Given the description of an element on the screen output the (x, y) to click on. 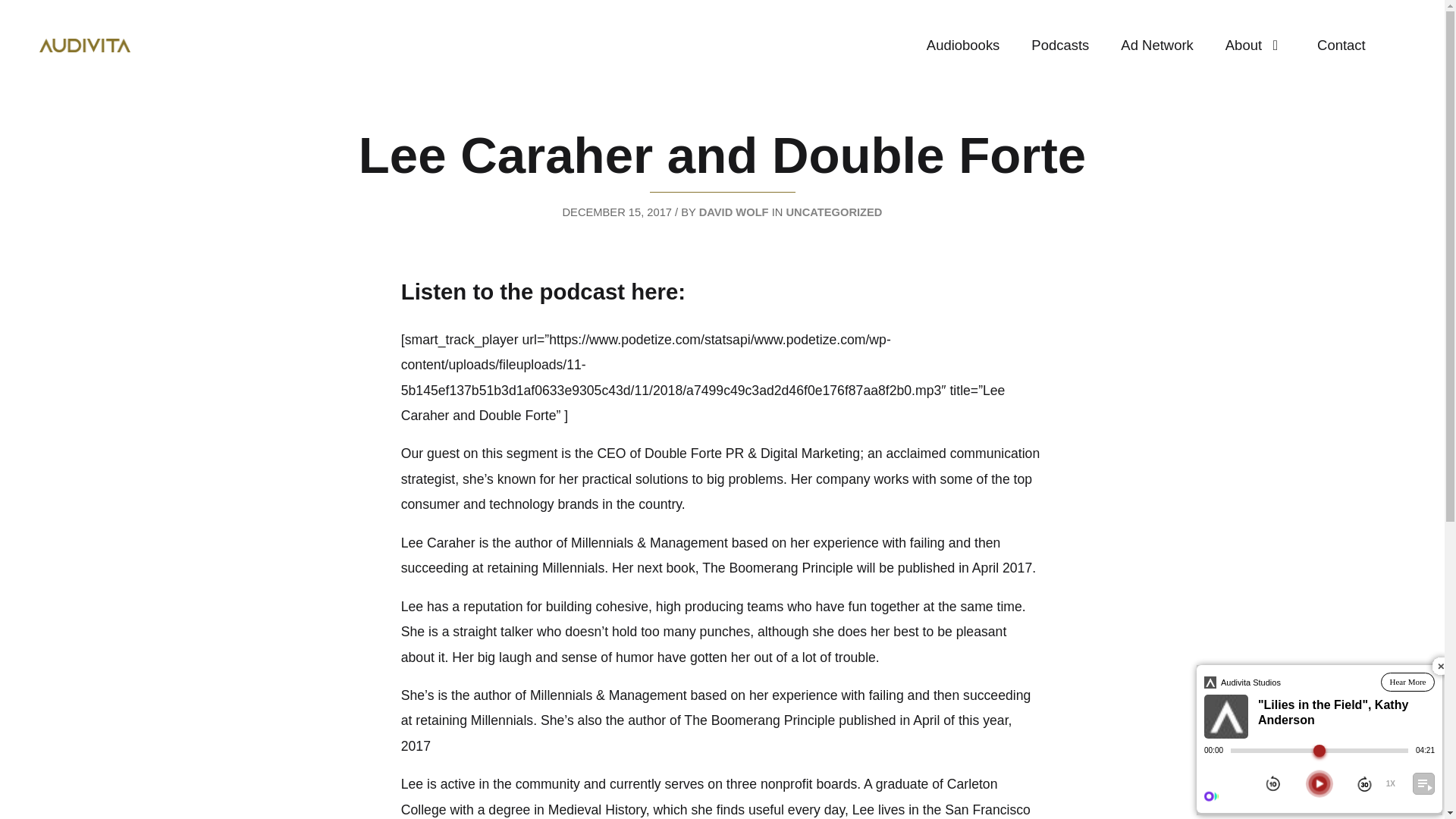
Podcasts (1059, 44)
DAVID WOLF (733, 212)
Contact (1341, 44)
Audiobooks (963, 44)
UNCATEGORIZED (834, 212)
Audivita (85, 45)
Lee Caraher and Double Forte (722, 164)
About (1255, 44)
Ad Network (1156, 44)
